Given the description of an element on the screen output the (x, y) to click on. 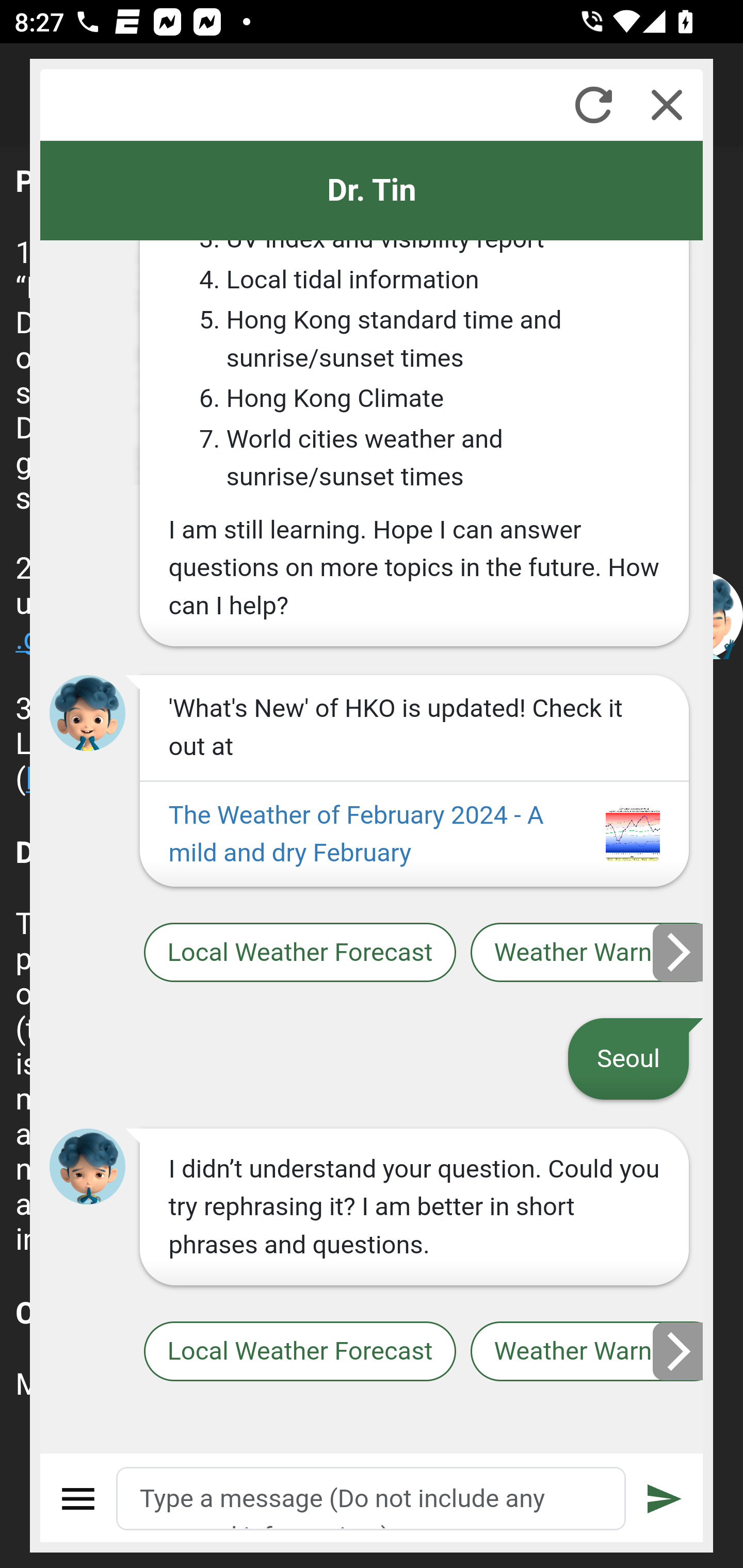
Refresh (593, 104)
Close (666, 104)
Local Weather Forecast (299, 951)
Weather Warnings (587, 951)
Next slide (678, 951)
Local Weather Forecast (299, 1351)
Weather Warnings (587, 1351)
Next slide (678, 1351)
Menu (78, 1498)
Submit (665, 1498)
